Given the description of an element on the screen output the (x, y) to click on. 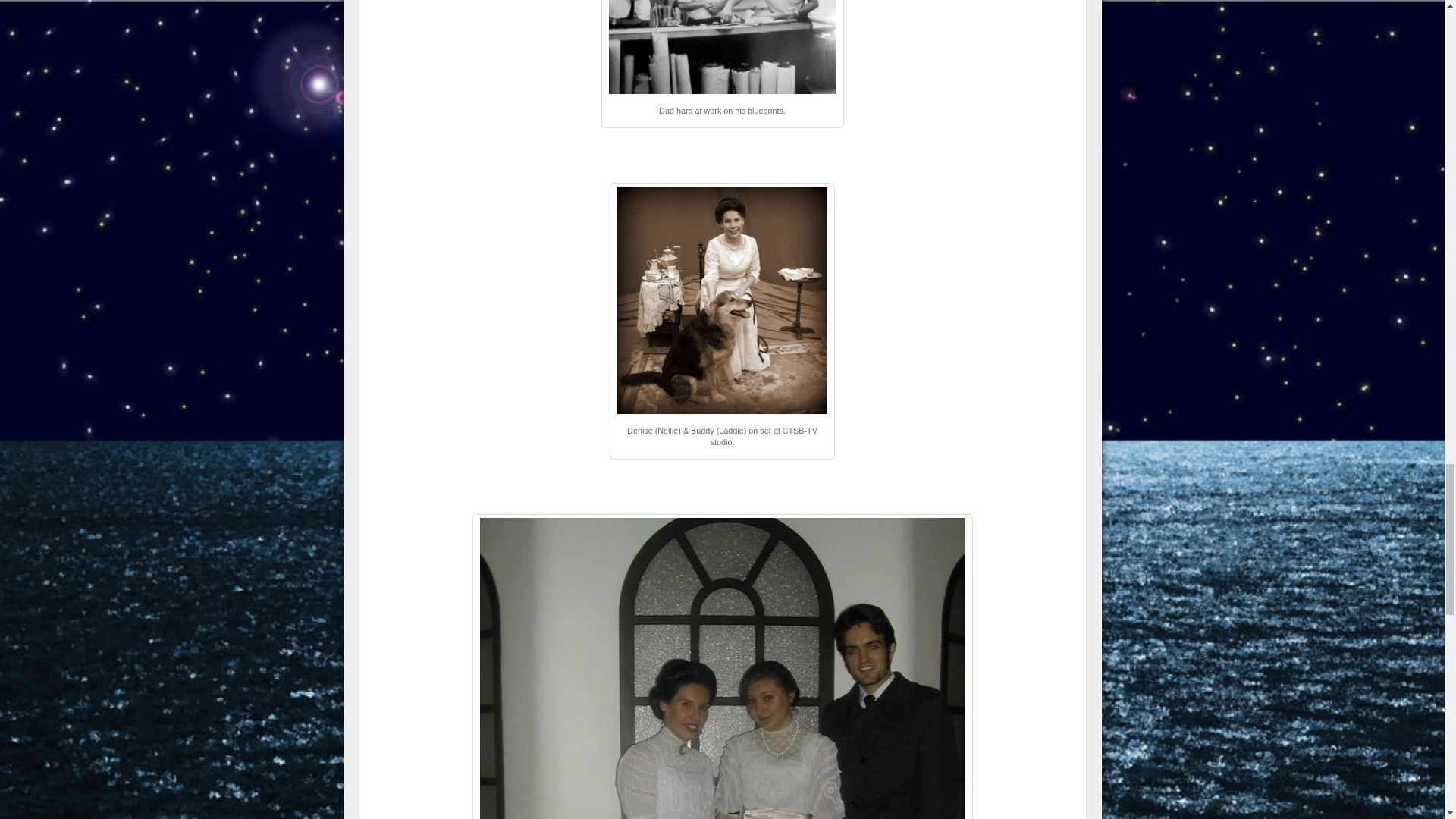
Dad at work taking measurements on blueprints. (721, 47)
